Given the description of an element on the screen output the (x, y) to click on. 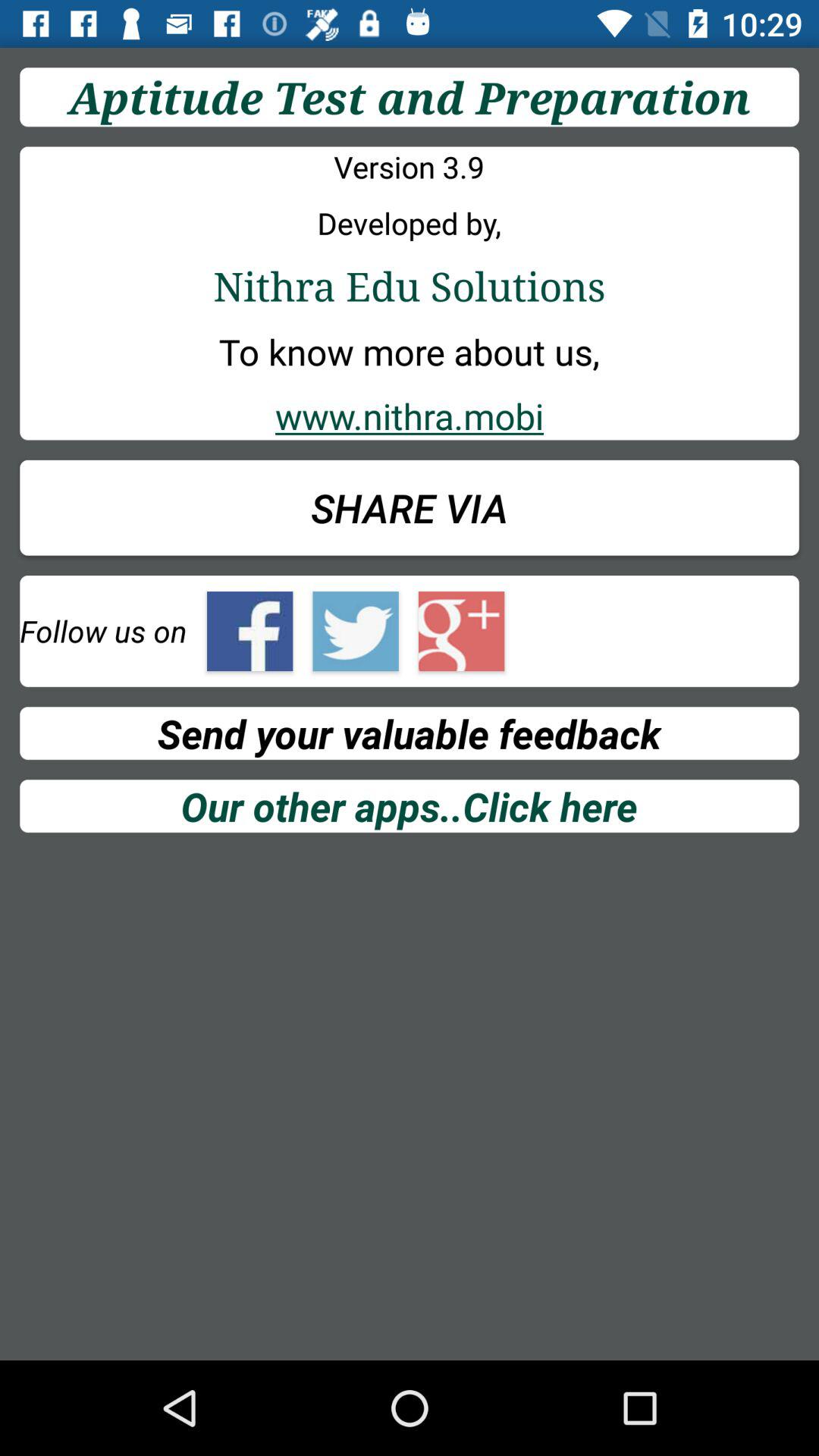
google plus follow button (461, 631)
